Given the description of an element on the screen output the (x, y) to click on. 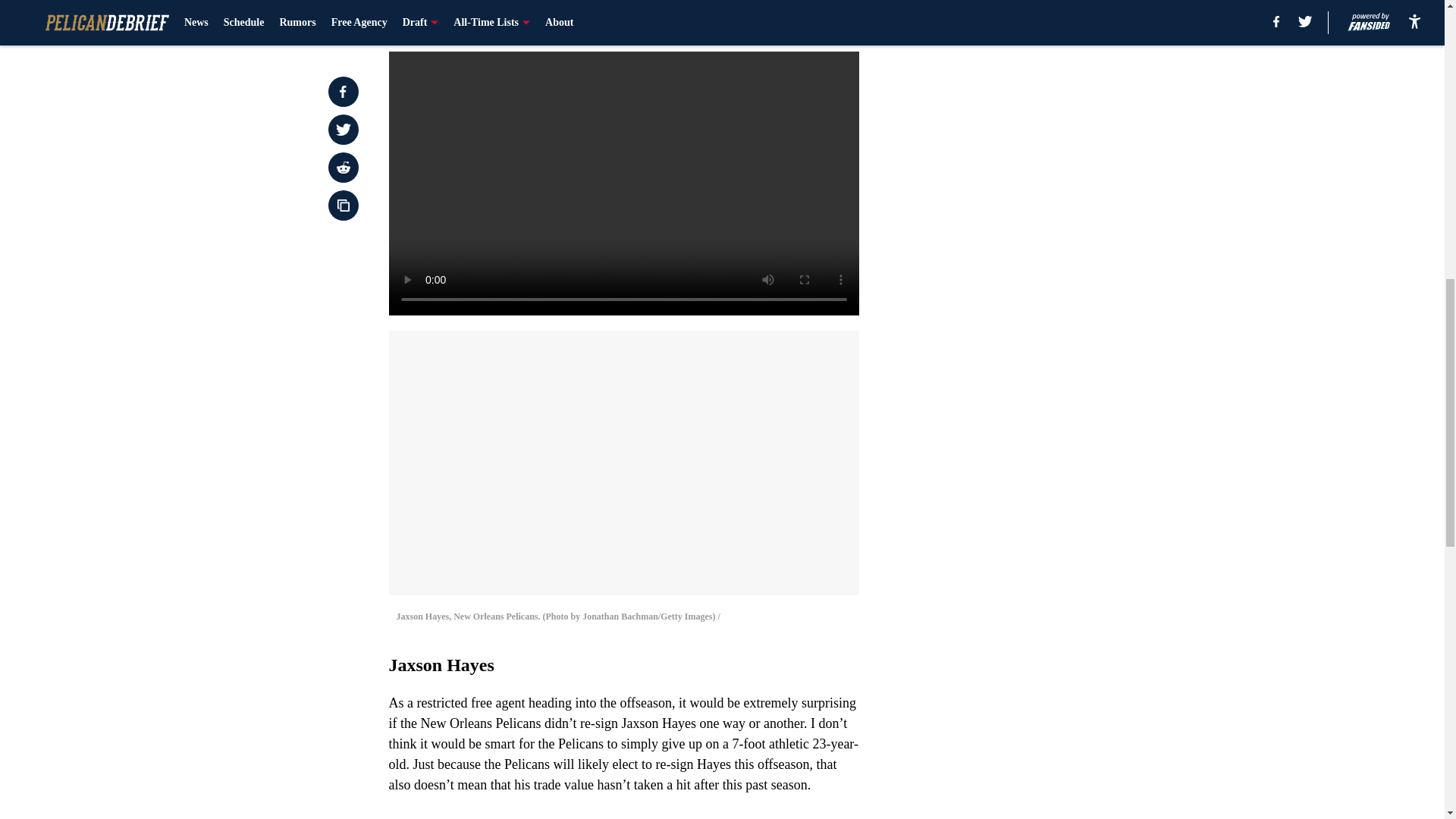
Next (813, 20)
3rd party ad content (1047, 320)
Prev (433, 20)
3rd party ad content (1047, 100)
